Given the description of an element on the screen output the (x, y) to click on. 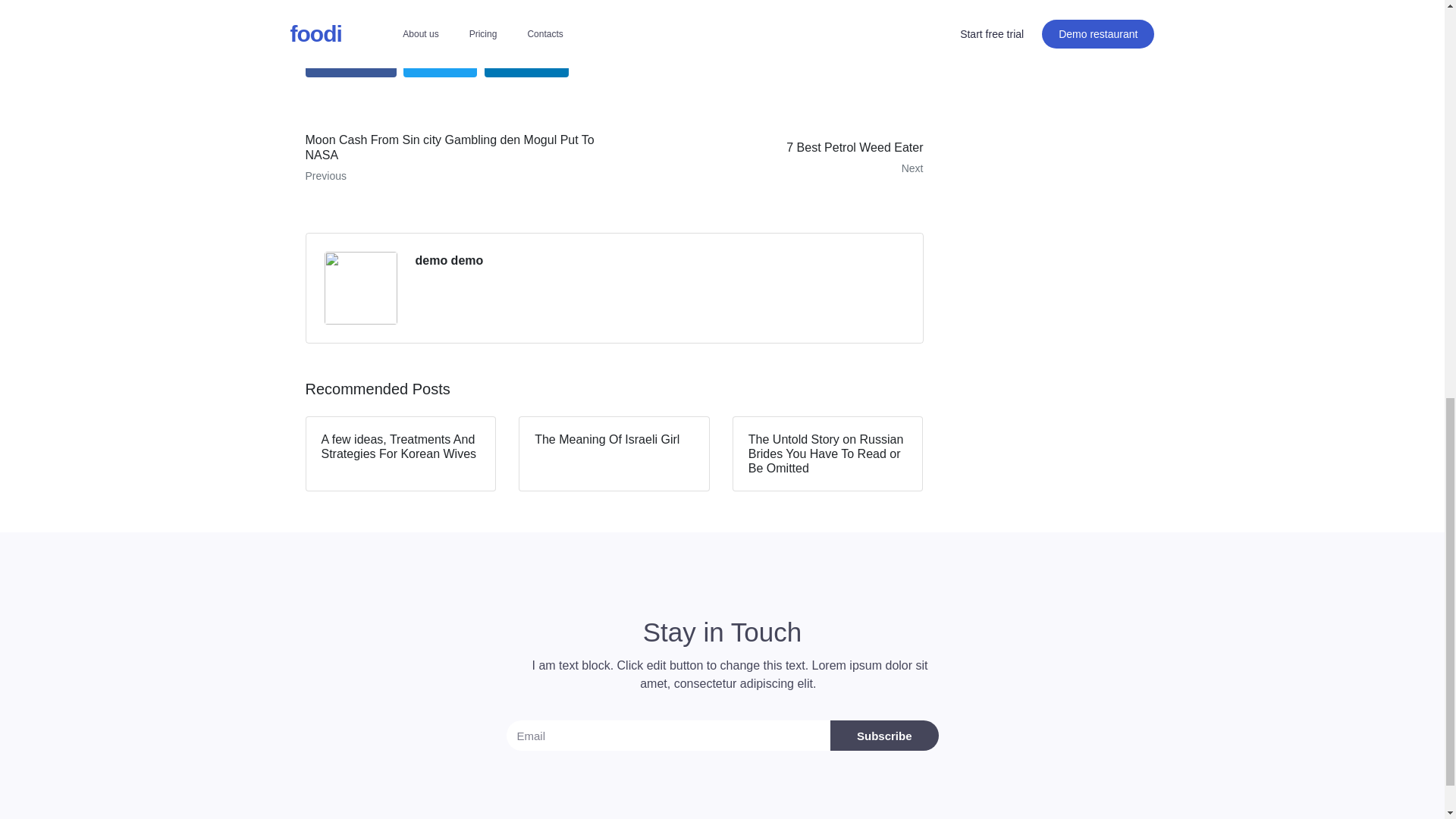
Twitter (440, 61)
Facebook (350, 61)
7 Best Petrol Weed Eater (774, 157)
A few ideas, Treatments And Strategies For Korean Wives (400, 454)
The Meaning Of Israeli Girl (614, 454)
Subscribe (884, 735)
Moon Cash From Sin city Gambling den Mogul Put To NASA (774, 157)
LinkedIn (454, 157)
